Given the description of an element on the screen output the (x, y) to click on. 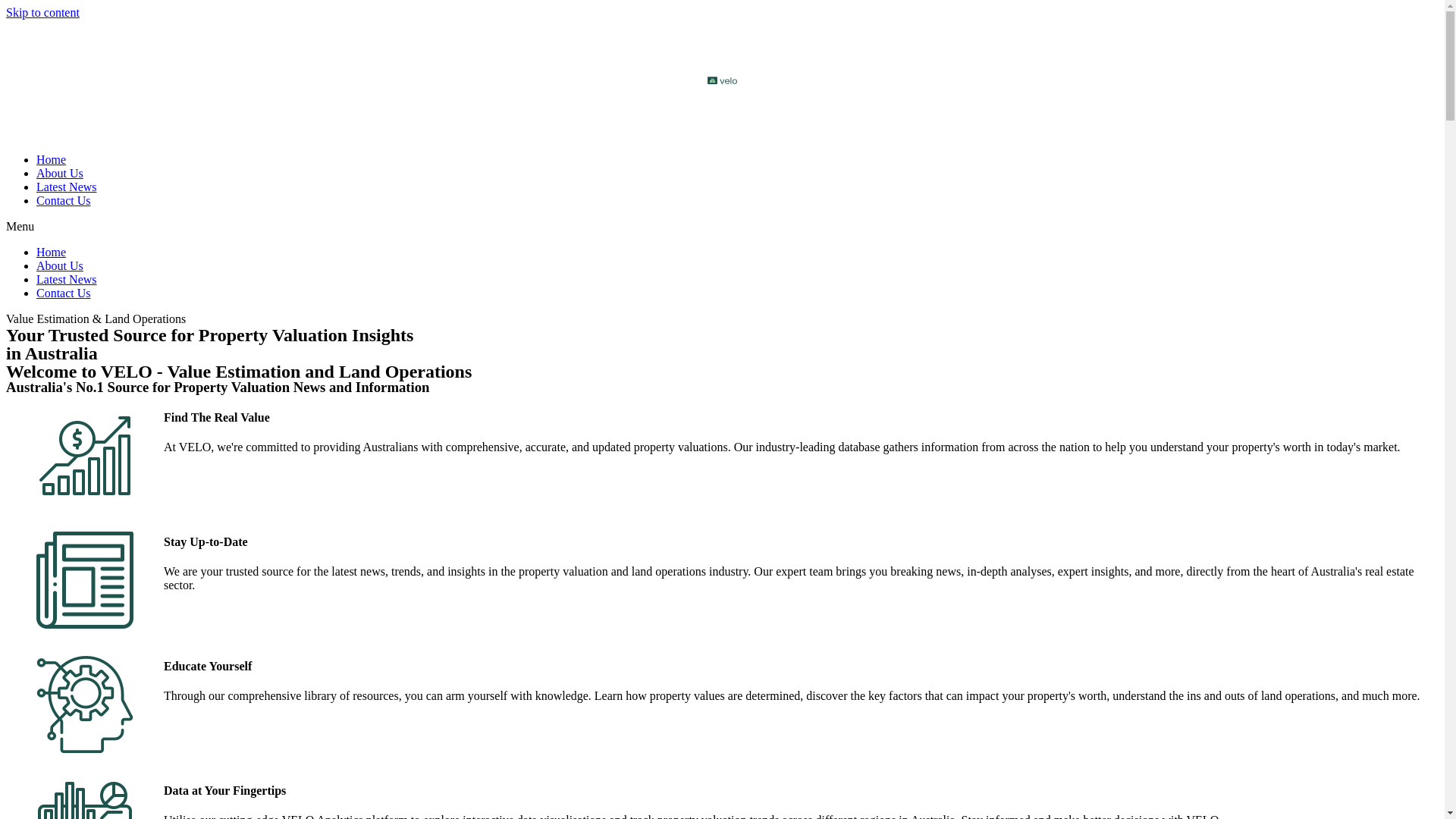
About Us Element type: text (59, 265)
Home Element type: text (50, 251)
Contact Us Element type: text (63, 200)
Contact Us Element type: text (63, 292)
Skip to content Element type: text (42, 12)
Latest News Element type: text (66, 279)
About Us Element type: text (59, 172)
Latest News Element type: text (66, 186)
Home Element type: text (50, 159)
